Given the description of an element on the screen output the (x, y) to click on. 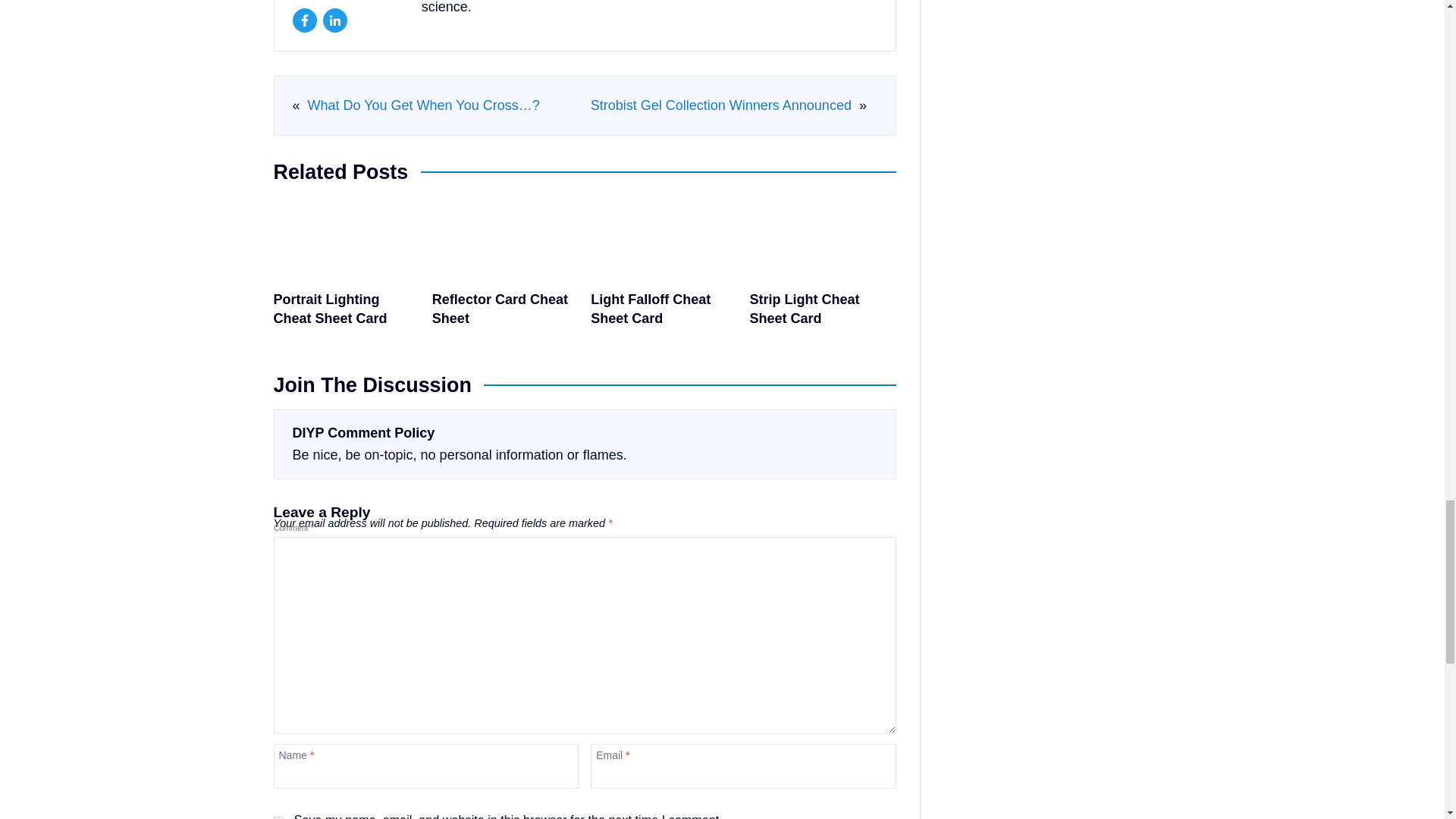
Portrait Lighting Cheat Sheet Card (346, 266)
Strip Light Cheat Sheet Card (822, 266)
Reflector Card Cheat Sheet (505, 266)
Light Falloff Cheat Sheet Card (663, 266)
